Given the description of an element on the screen output the (x, y) to click on. 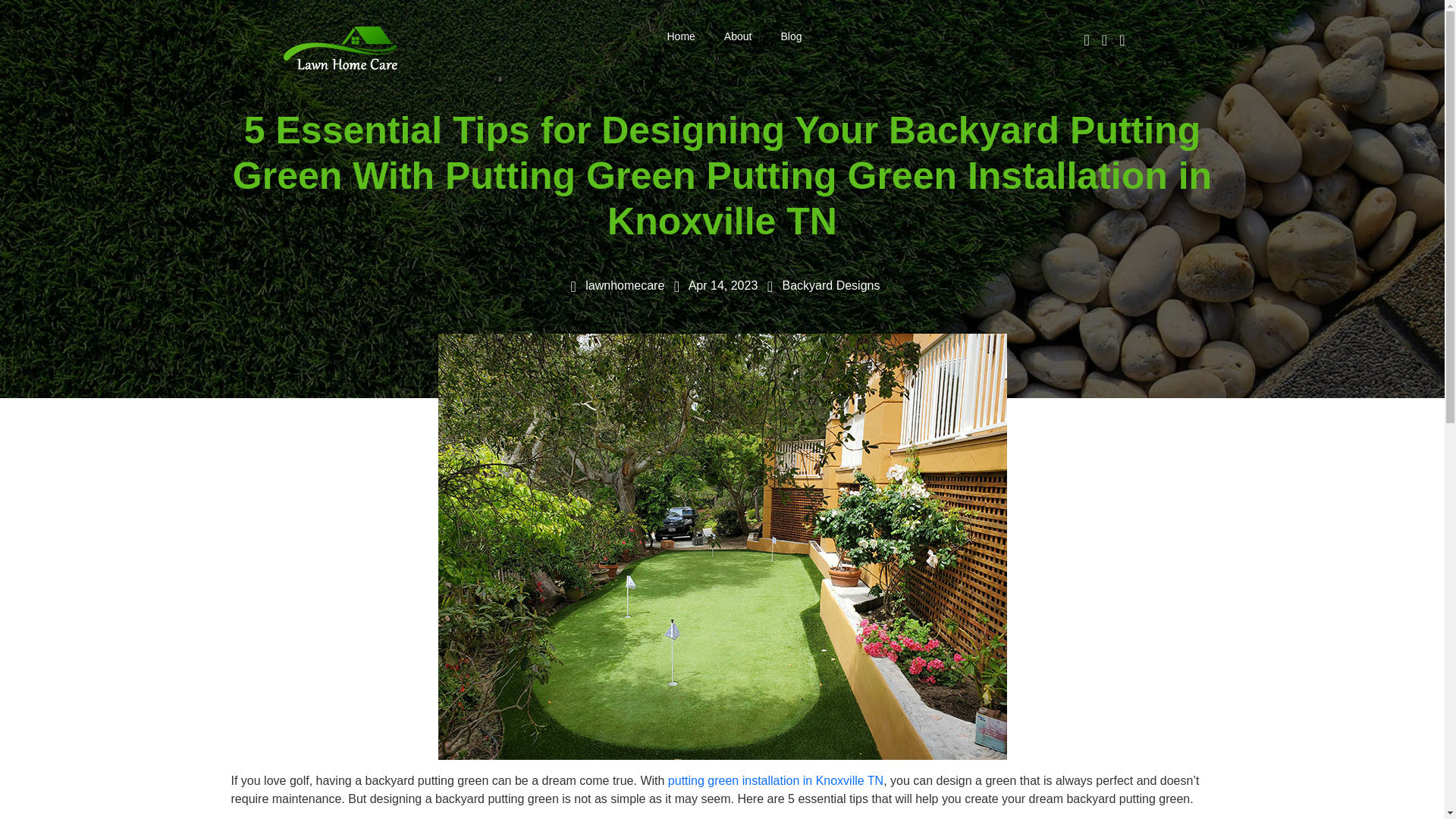
putting green installation in Knoxville TN (775, 780)
Backyard Designs (831, 285)
